Given the description of an element on the screen output the (x, y) to click on. 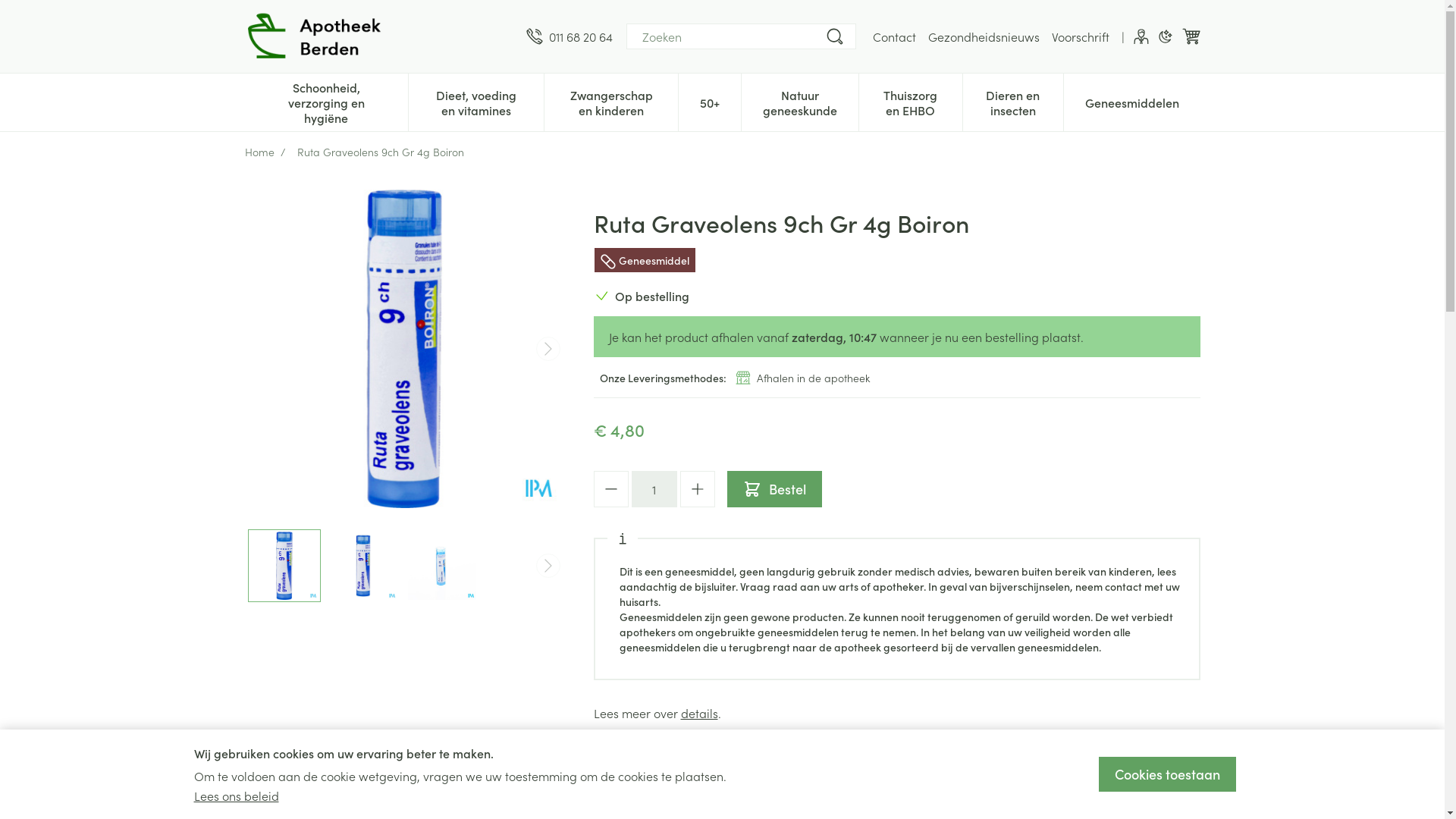
Bestel Element type: text (773, 488)
Lees ons beleid Element type: text (236, 795)
Cookies toestaan Element type: text (1166, 773)
Voorschrift Element type: text (1079, 36)
Apotheek Berden Element type: hover (378, 36)
Klant menu Element type: text (1140, 35)
Natuur geneeskunde Element type: text (799, 100)
Ruta Graveolens 9ch Gr 4g Boiron Element type: hover (403, 348)
Dieren en insecten Element type: text (1013, 100)
Contact Element type: text (893, 36)
50+ Element type: text (709, 100)
Gezondheidsnieuws Element type: text (983, 36)
Ruta Graveolens 9ch Gr 4g Boiron Element type: hover (284, 565)
Dieet, voeding en vitamines Element type: text (475, 100)
Geneesmiddelen Element type: text (1131, 100)
Apotheek Berden Element type: hover (319, 36)
Zoeken Element type: text (834, 36)
Zwangerschap en kinderen Element type: text (610, 100)
Ruta Graveolens 9ch Gr 4g Boiron 1 Element type: hover (363, 565)
Winkelwagen Element type: text (1190, 36)
Thuiszorg en EHBO Element type: text (910, 100)
Donkere modus Element type: text (1164, 35)
Home Element type: text (258, 151)
Ruta Graveolens 9ch Gr 4g Boiron 2 Element type: hover (441, 565)
011 68 20 64 Element type: text (569, 36)
